Given the description of an element on the screen output the (x, y) to click on. 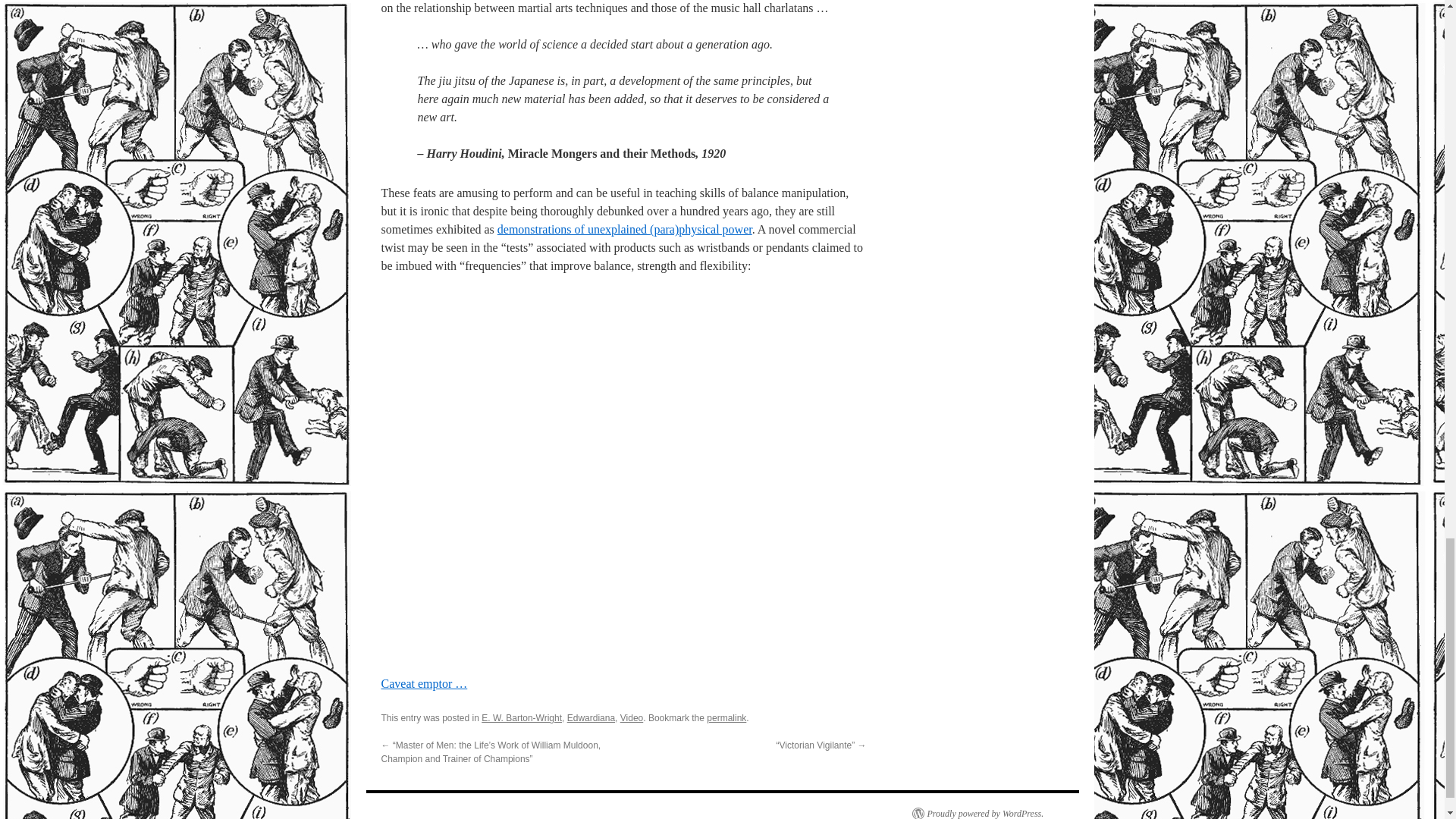
E. W. Barton-Wright (521, 717)
Edwardiana (590, 717)
permalink (725, 717)
Video (631, 717)
